Given the description of an element on the screen output the (x, y) to click on. 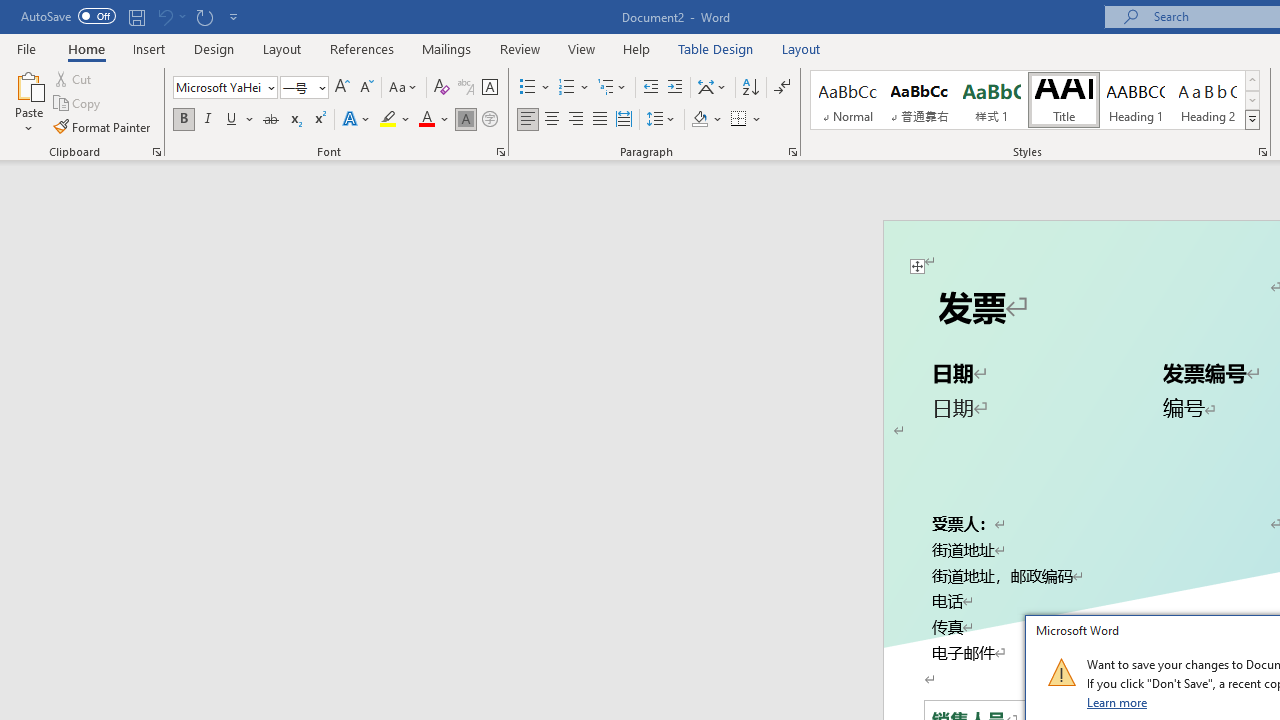
Can't Undo (164, 15)
Can't Undo (170, 15)
